Given the description of an element on the screen output the (x, y) to click on. 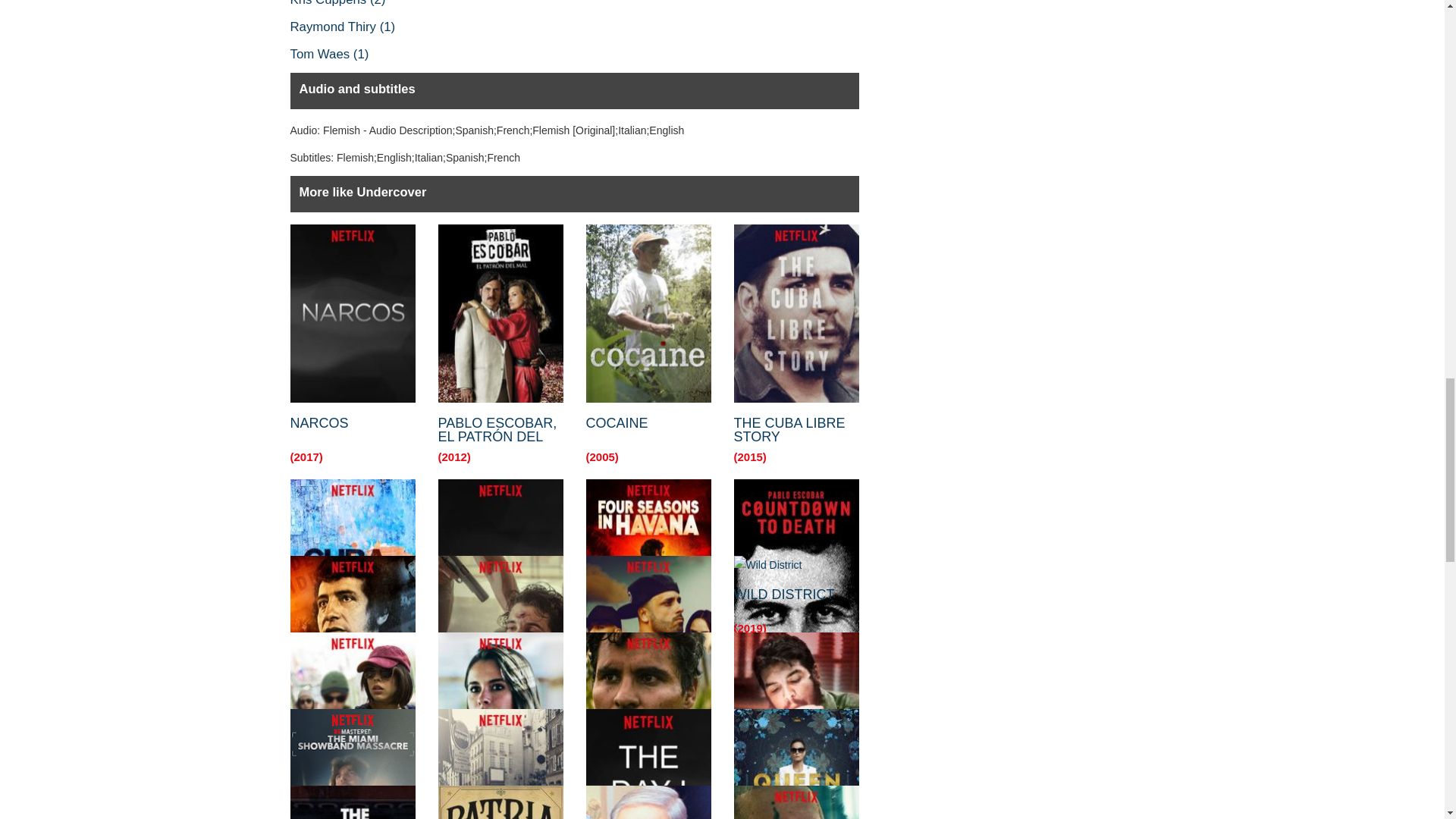
ReMastered: The Miami Showband Massacre (351, 764)
November 13: Attack on Paris (500, 764)
Wild District (796, 565)
The Day I Met El Chapo (647, 764)
Queen of the South (796, 764)
